Given the description of an element on the screen output the (x, y) to click on. 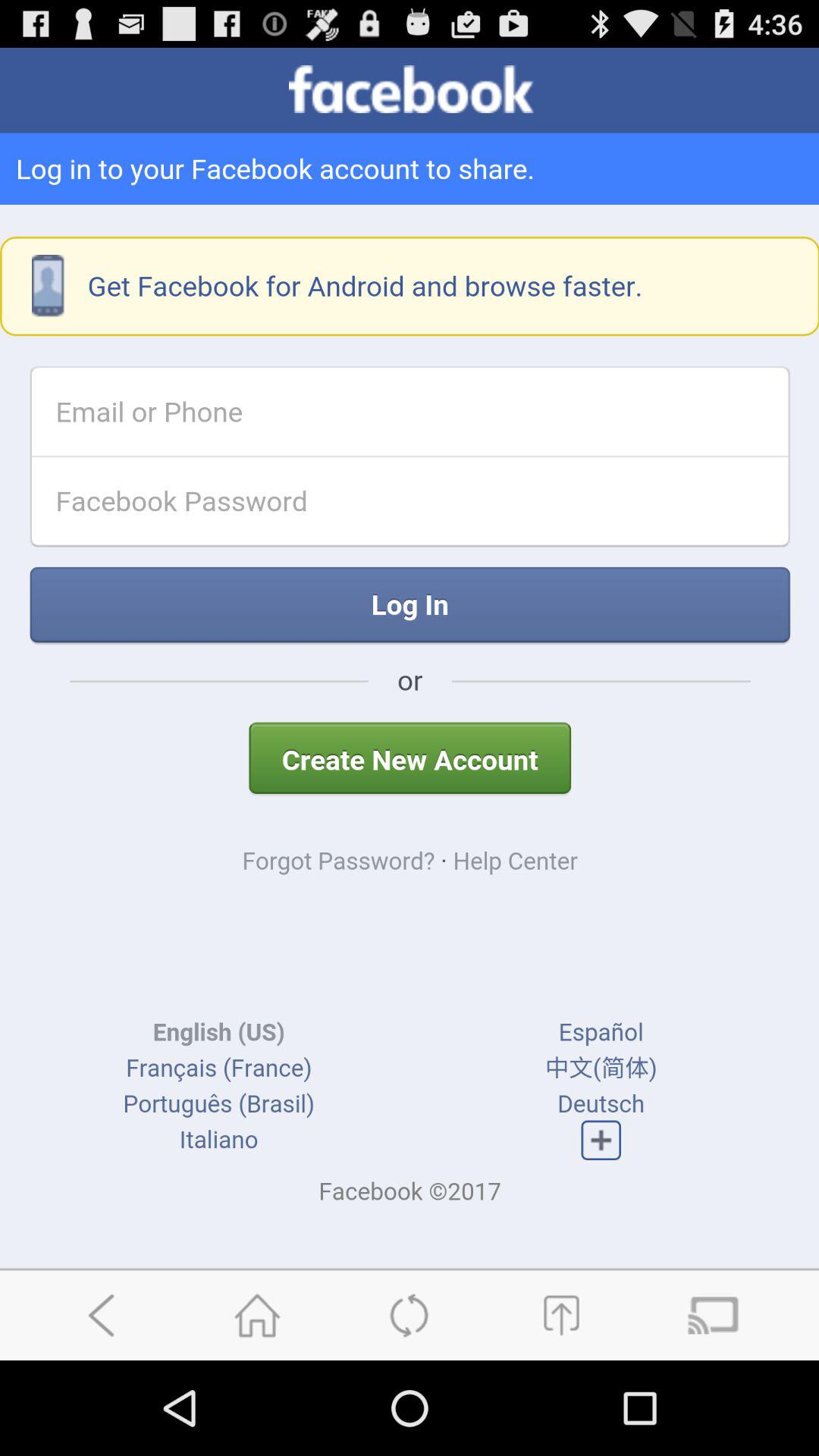
go back (105, 1315)
